Given the description of an element on the screen output the (x, y) to click on. 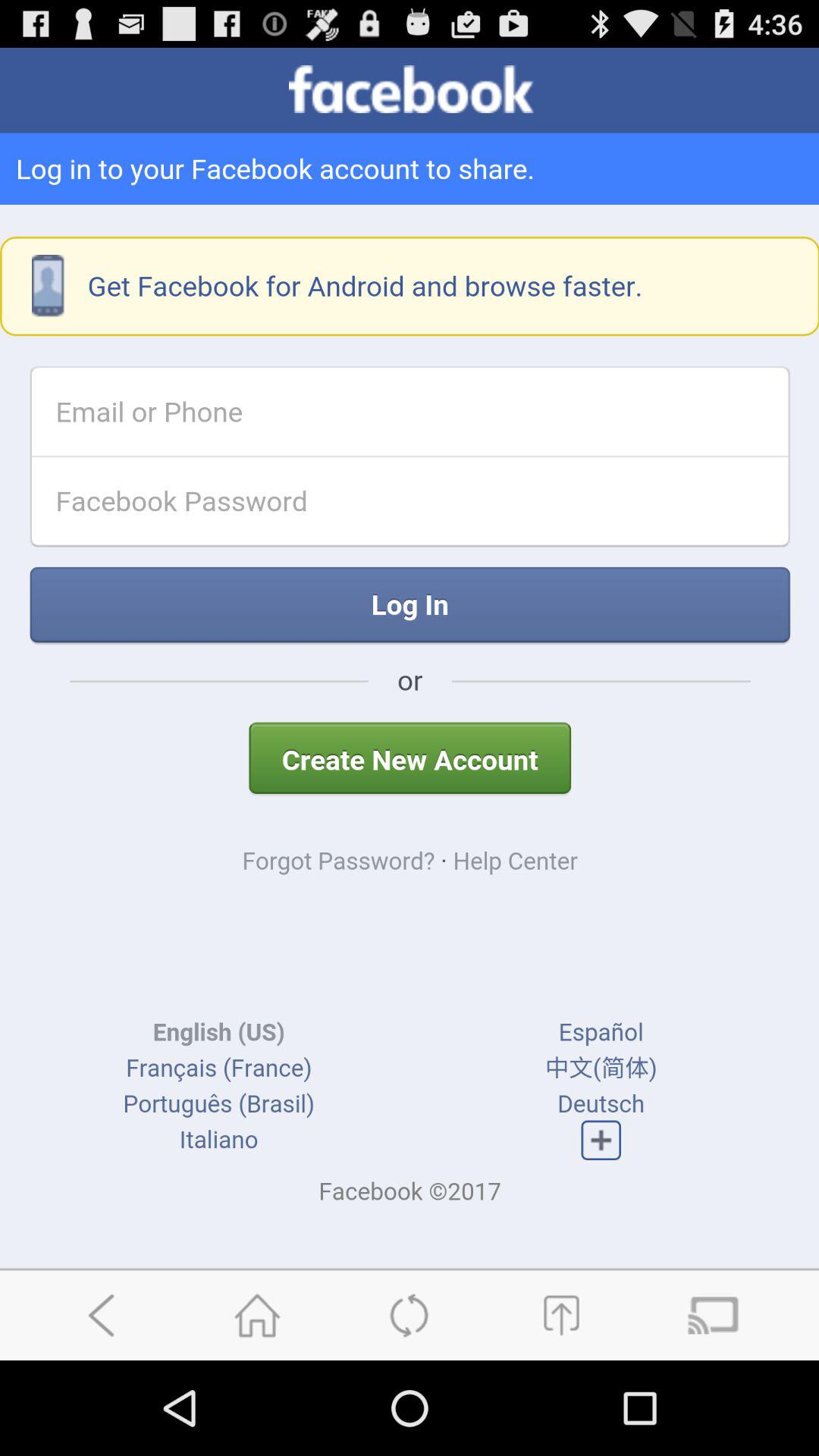
go back (105, 1315)
